Given the description of an element on the screen output the (x, y) to click on. 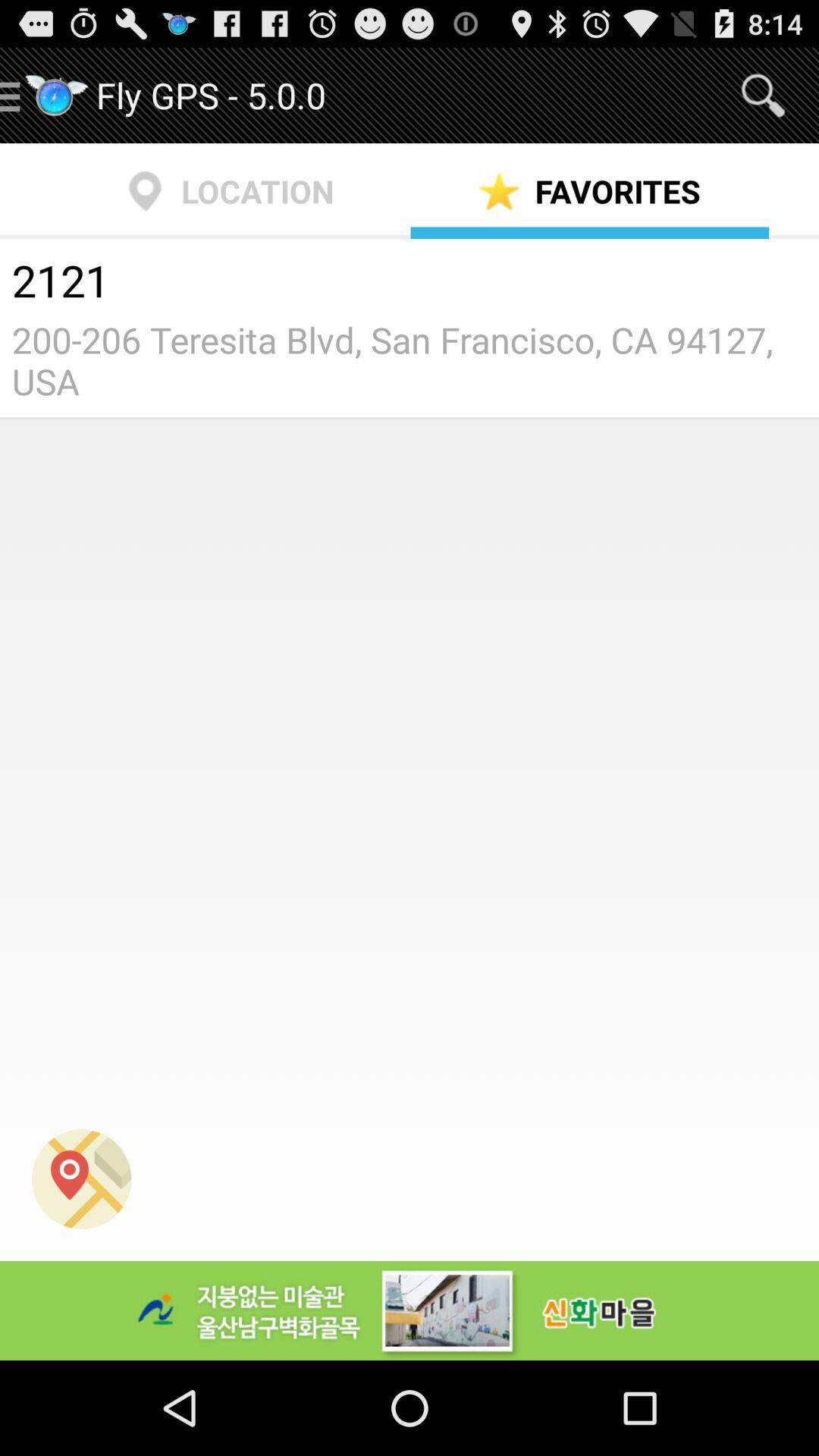
launch item above the 200 206 teresita item (409, 282)
